Given the description of an element on the screen output the (x, y) to click on. 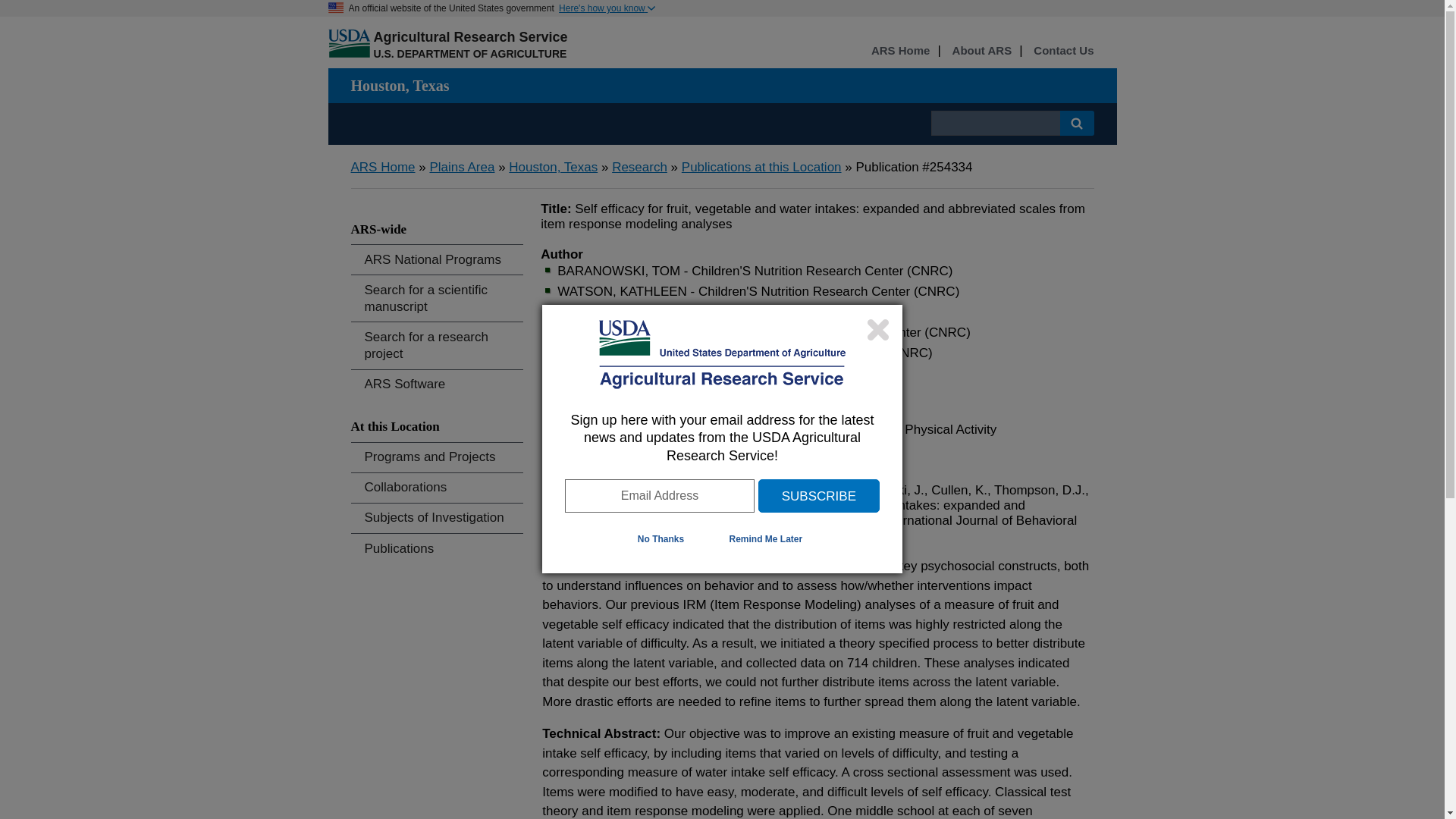
Email Address (659, 495)
Close subscription dialog (877, 328)
Search for a research project (436, 345)
Plains Area (462, 166)
Thompson, Deborah - Debbe (640, 373)
search (995, 122)
ARS National Programs (436, 259)
Subjects of Investigation (436, 518)
Contact Us (1063, 50)
U.S. DEPARTMENT OF AGRICULTURE Home (469, 53)
Agricultural Research Service (469, 37)
U.S. DEPARTMENT OF AGRICULTURE (469, 53)
Houston, Texas (552, 166)
Programs and Projects (436, 457)
ARS Home (900, 50)
